Given the description of an element on the screen output the (x, y) to click on. 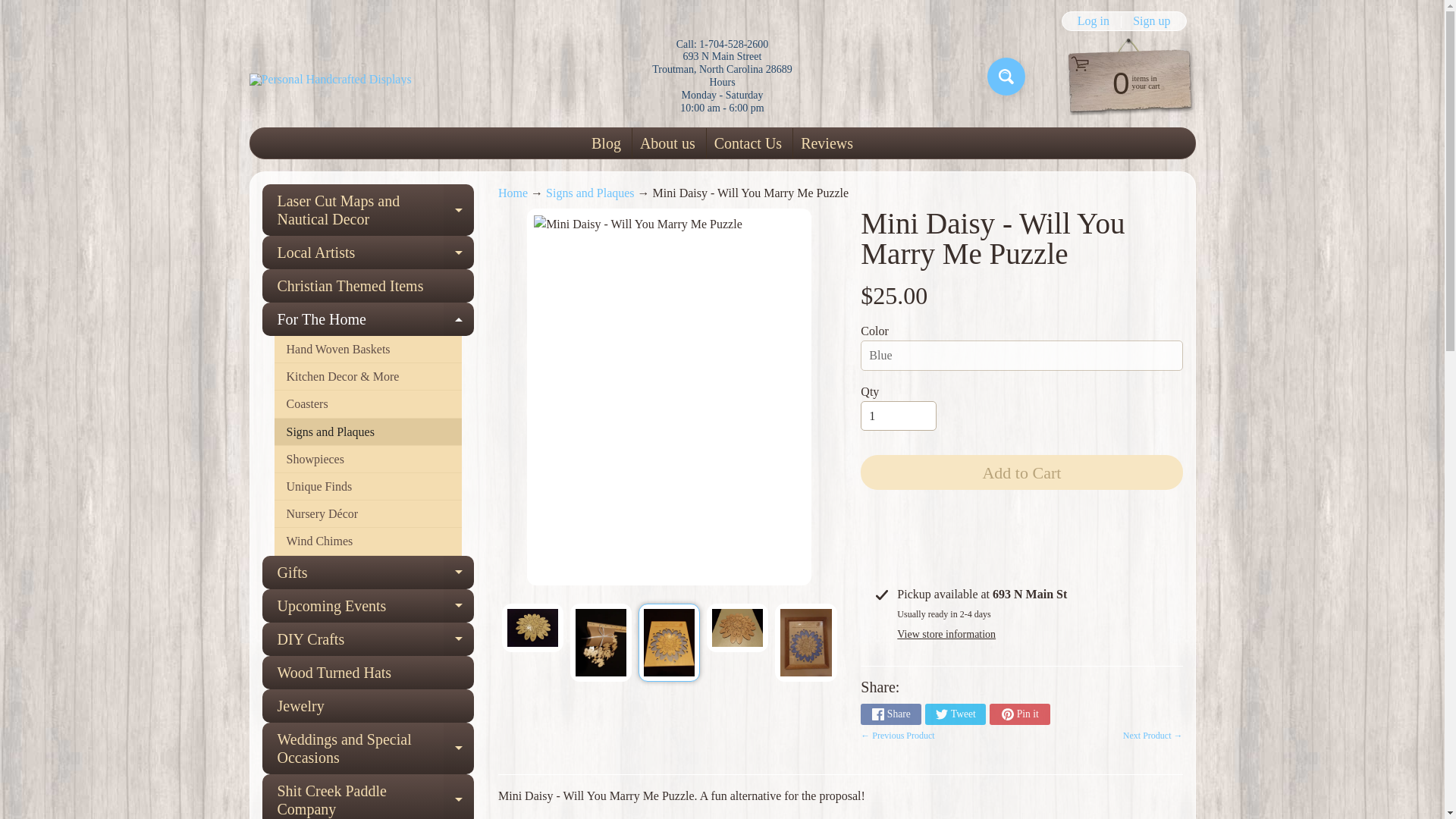
Sign up (1151, 21)
Search (1006, 76)
Skip to content (1122, 81)
Share on Facebook (22, 8)
Back to the home page (890, 713)
About us (512, 192)
Contact Us (667, 142)
Log in (747, 142)
Pin on Pinterest (1093, 21)
Mini Daisy - Will You Marry Me Puzzle (1019, 713)
Expand child menu (532, 627)
Tweet on Twitter (459, 252)
Search (954, 713)
